Given the description of an element on the screen output the (x, y) to click on. 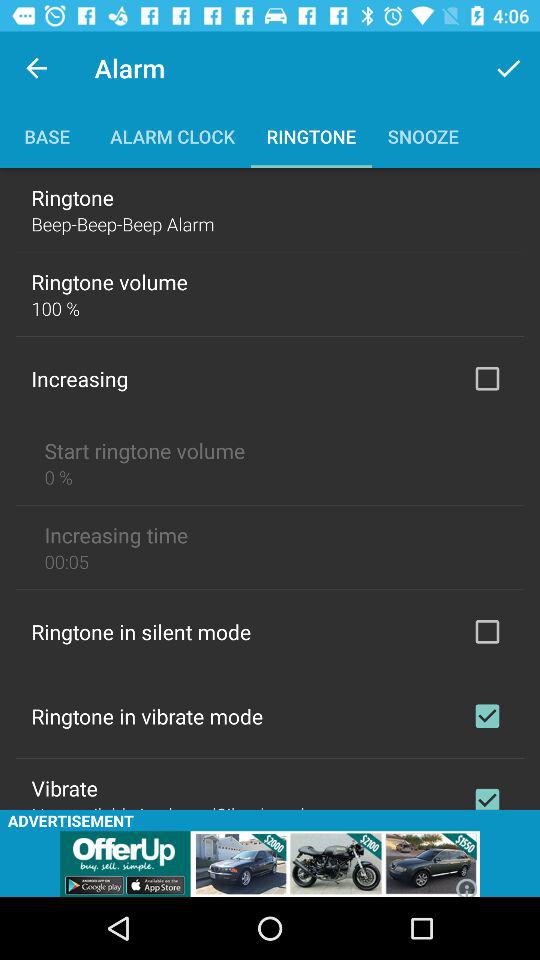
advertisement (270, 864)
